Given the description of an element on the screen output the (x, y) to click on. 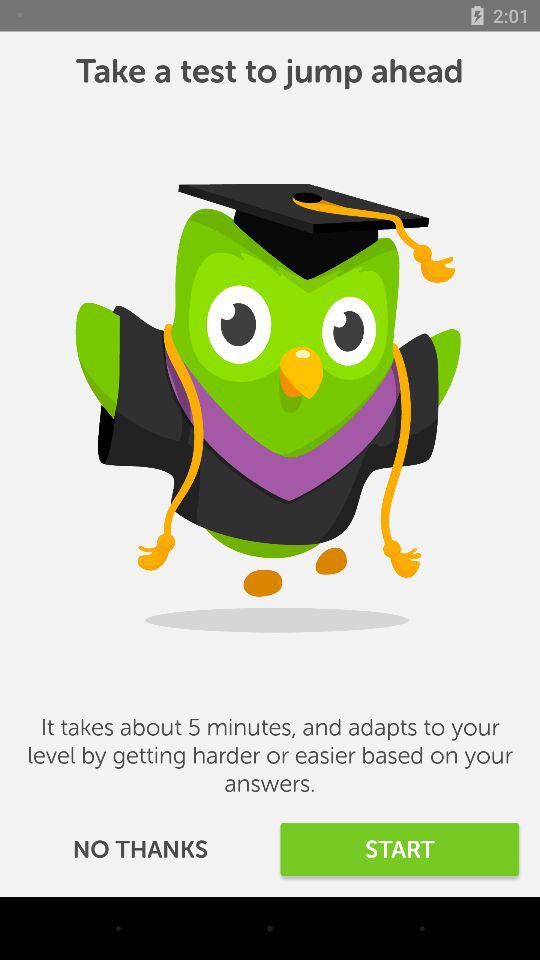
launch the item next to the start icon (140, 849)
